Given the description of an element on the screen output the (x, y) to click on. 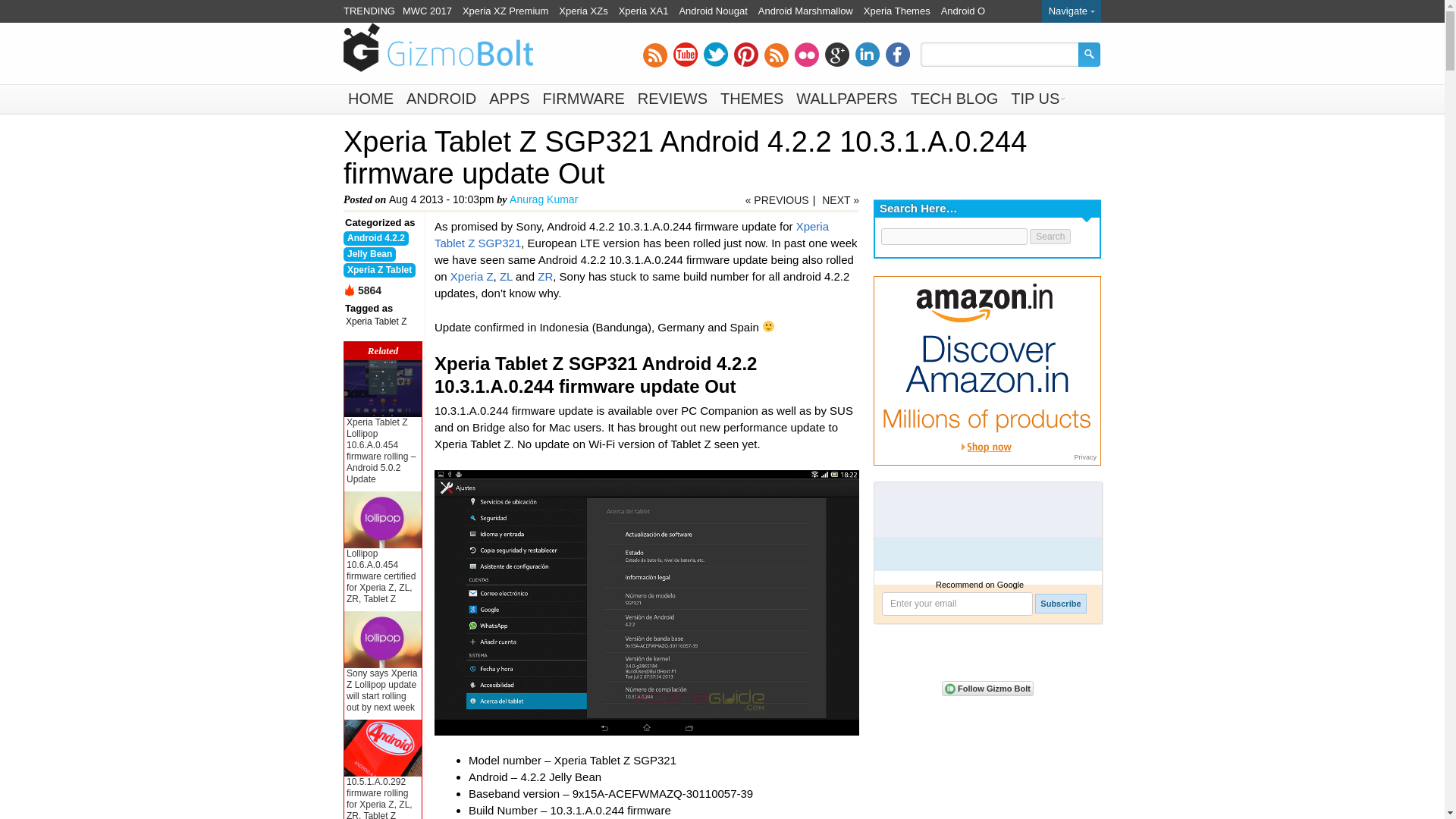
Android Nougat (712, 10)
twitter (716, 54)
MWC 2017 (427, 10)
rss (655, 54)
Xperia Themes (896, 10)
ANDROID (440, 98)
Xperia Tablet Z (630, 234)
Subscribe (1060, 603)
APPS (509, 98)
Xperia XZs (583, 10)
TIP US (1035, 98)
Xperia XA1 (643, 10)
Android Marshmallow (805, 10)
